Given the description of an element on the screen output the (x, y) to click on. 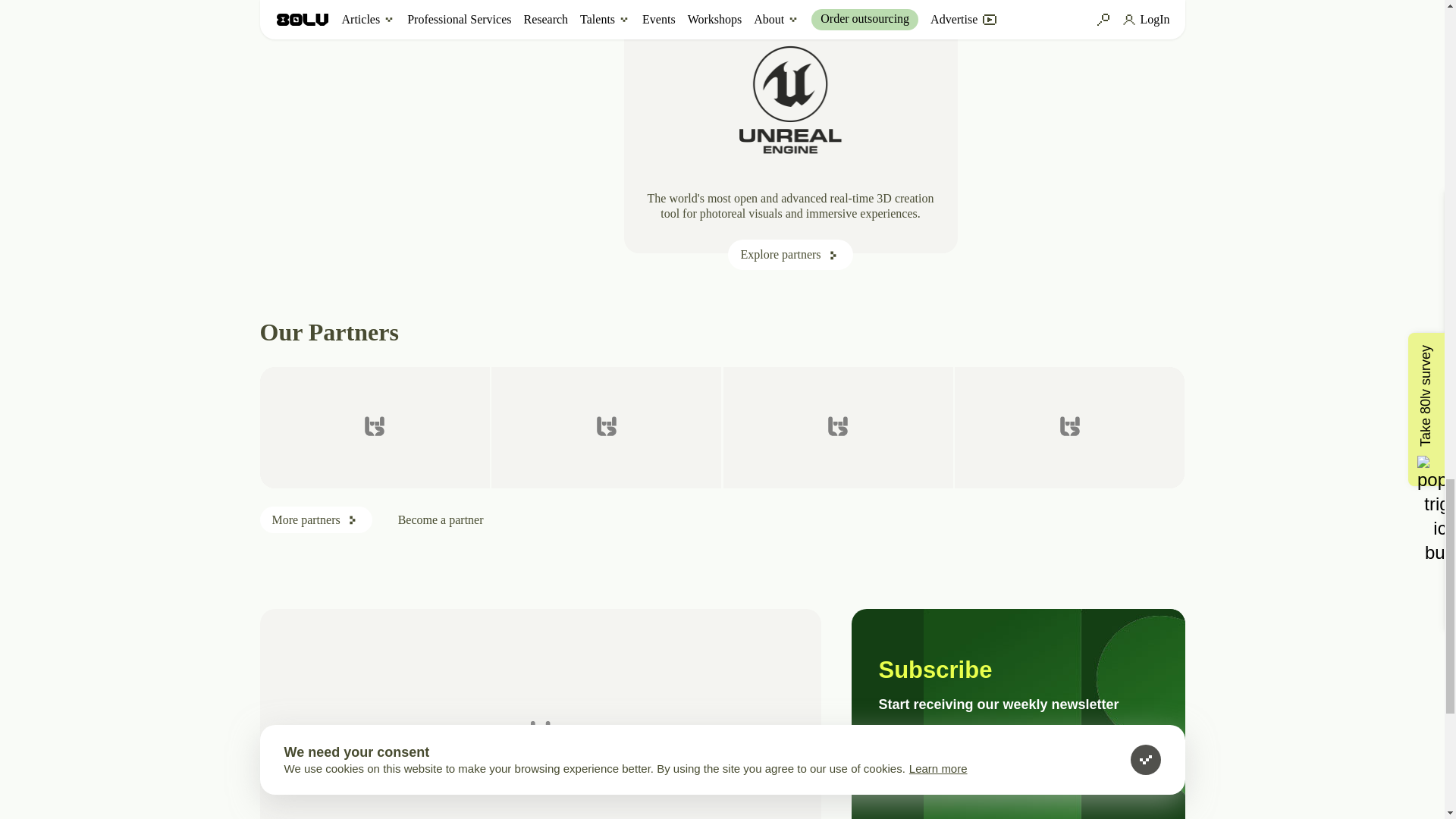
Style3D (1070, 427)
Darmstadt Graphics Group (606, 427)
Explore partners (789, 254)
TMRW.inc (374, 427)
Graswald (838, 427)
